Given the description of an element on the screen output the (x, y) to click on. 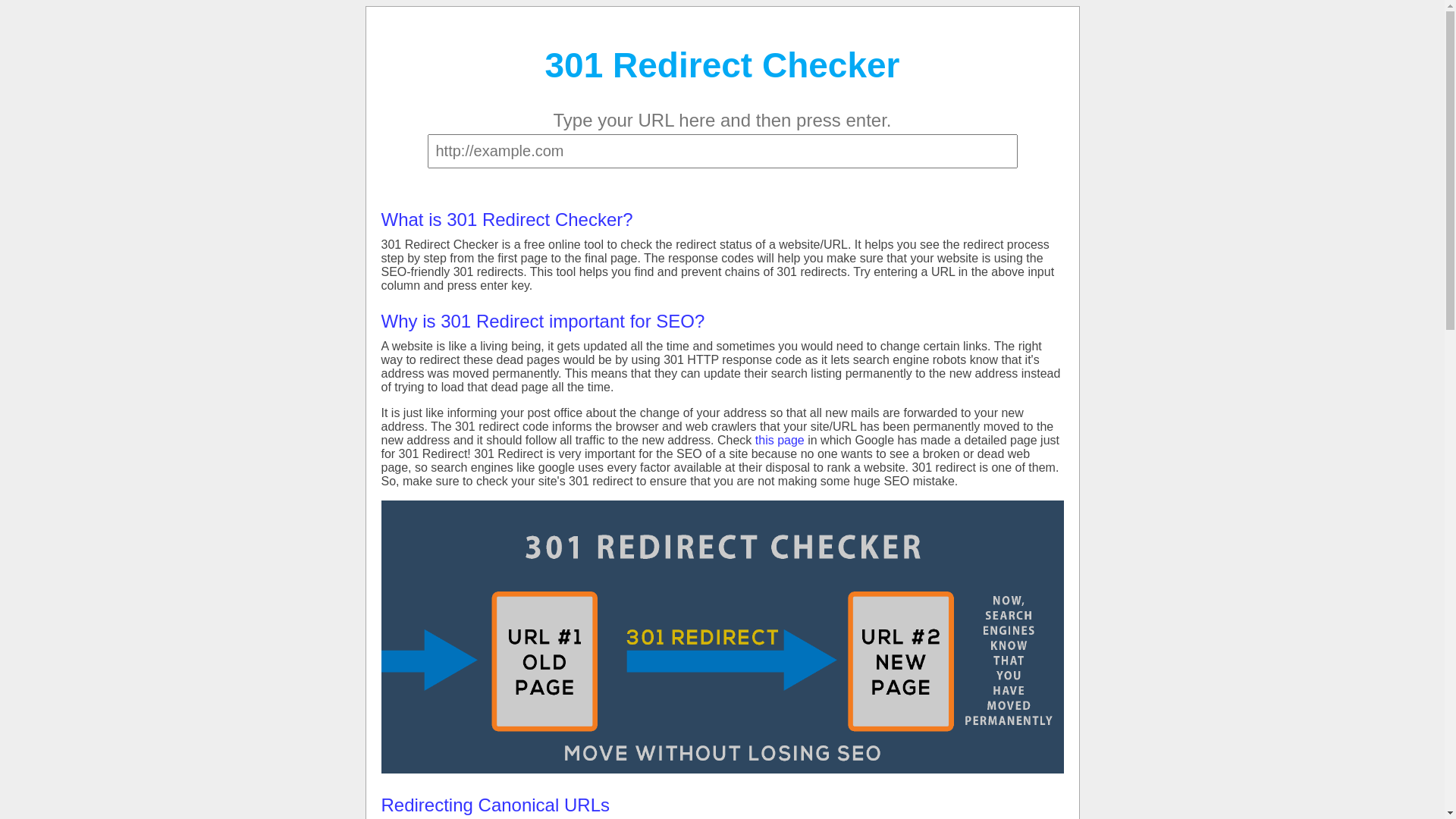
301 Redirect Checker Element type: text (721, 64)
this page Element type: text (779, 439)
